Given the description of an element on the screen output the (x, y) to click on. 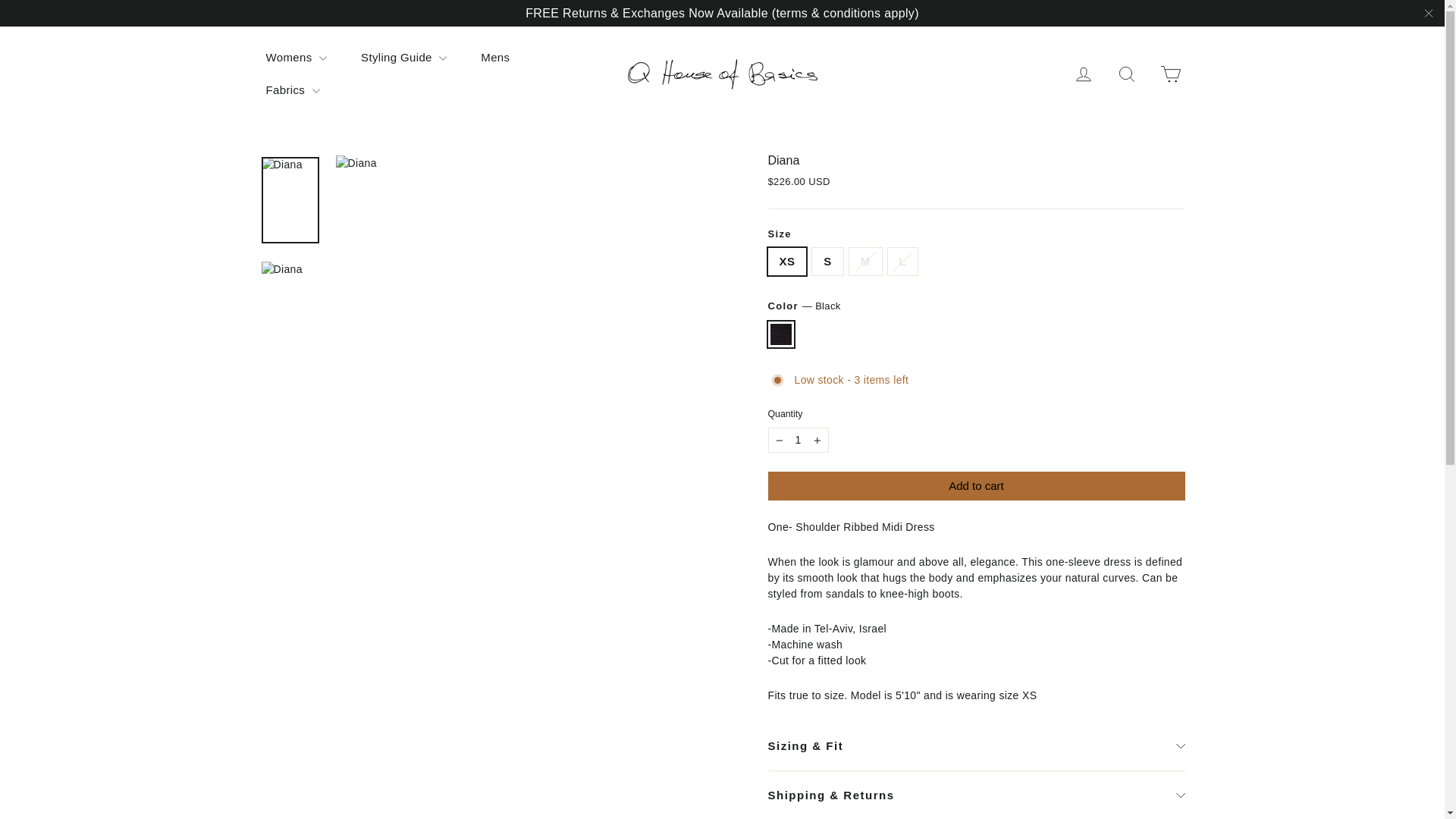
1 (797, 439)
Womens (296, 57)
Mens (494, 57)
Styling Guide (403, 57)
